Given the description of an element on the screen output the (x, y) to click on. 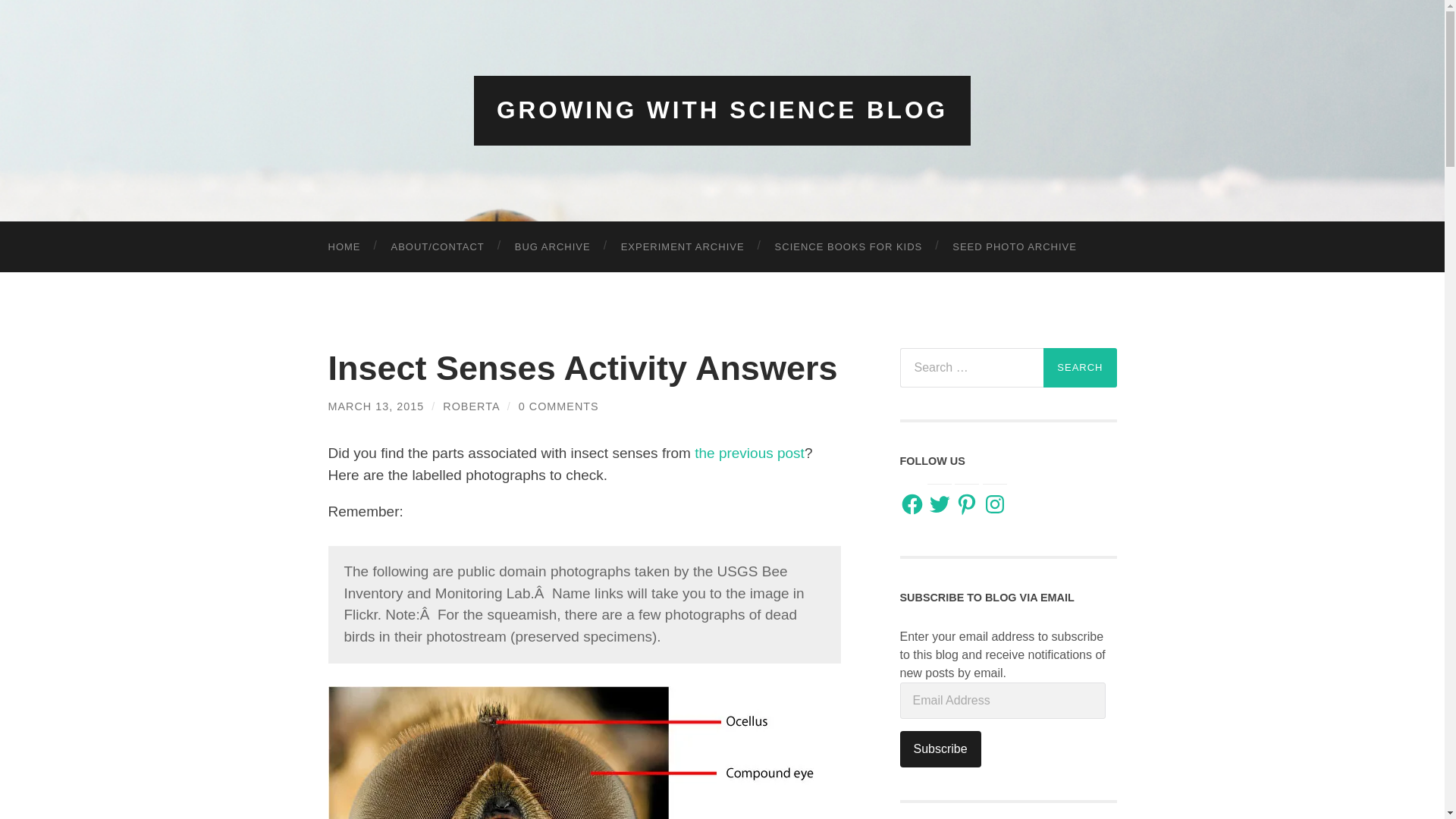
EXPERIMENT ARCHIVE (682, 246)
ROBERTA (470, 406)
GROWING WITH SCIENCE BLOG (721, 109)
SCIENCE BOOKS FOR KIDS (848, 246)
BUG ARCHIVE (552, 246)
Posts by Roberta (470, 406)
Search (1079, 366)
0 COMMENTS (558, 406)
SEED PHOTO ARCHIVE (1014, 246)
MARCH 13, 2015 (375, 406)
